Given the description of an element on the screen output the (x, y) to click on. 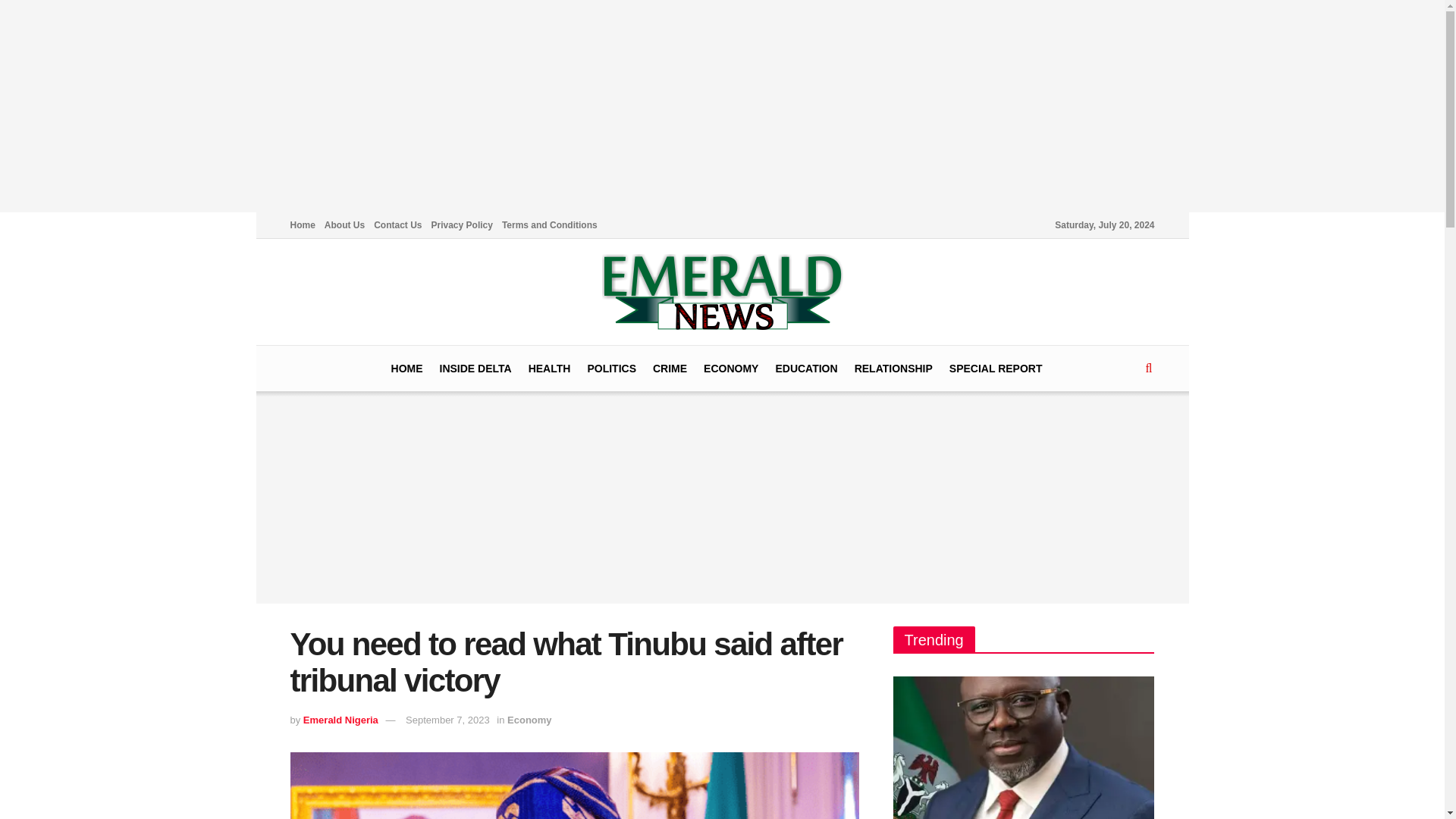
SPECIAL REPORT (995, 368)
RELATIONSHIP (893, 368)
Economy (528, 719)
ECONOMY (730, 368)
INSIDE DELTA (475, 368)
HOME (407, 368)
Emerald Nigeria (340, 719)
Privacy Policy (461, 225)
HEALTH (549, 368)
September 7, 2023 (447, 719)
Home (301, 225)
Contact Us (398, 225)
EDUCATION (805, 368)
